Given the description of an element on the screen output the (x, y) to click on. 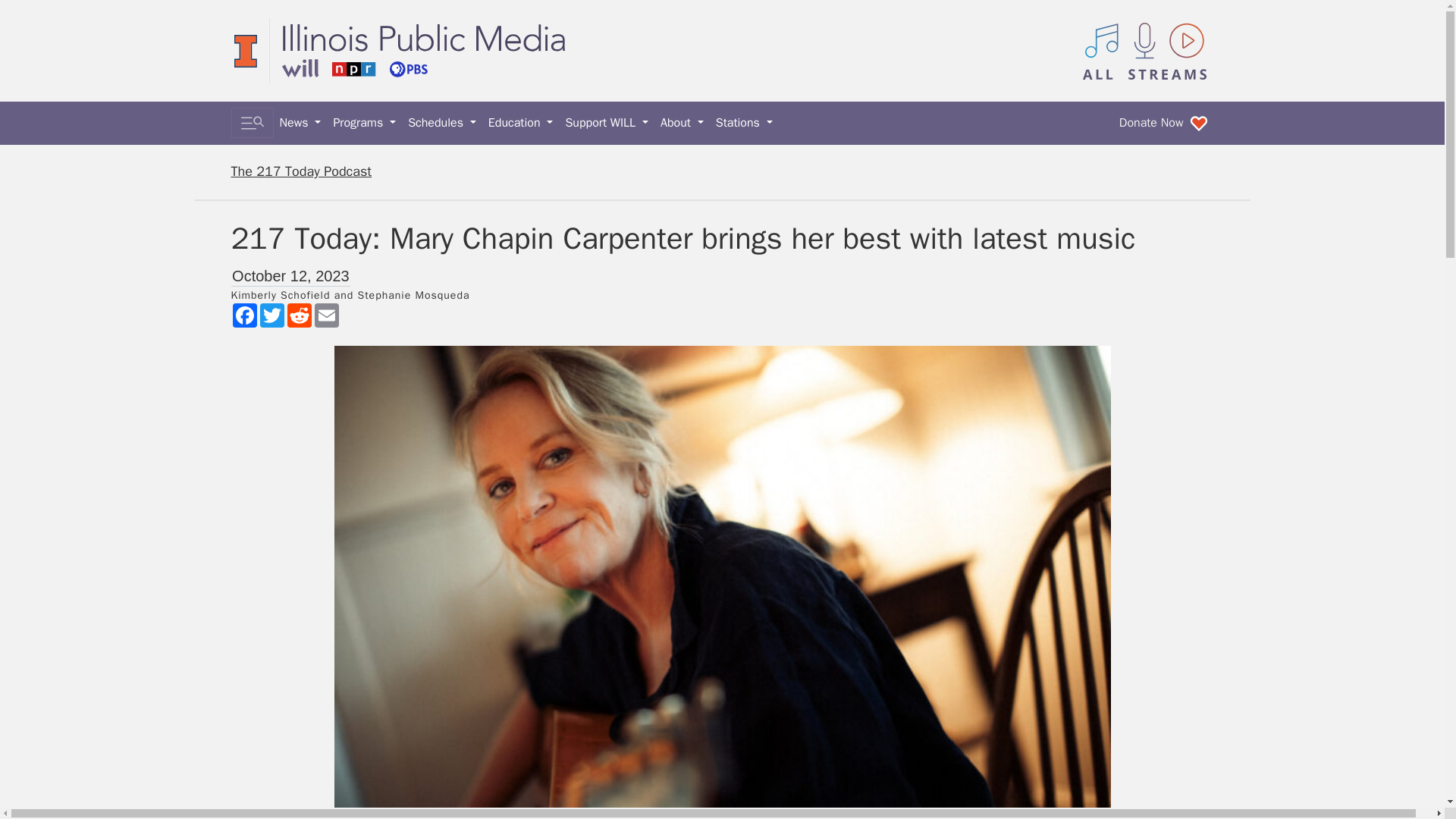
All IPM content streams (1144, 50)
Toggle search (251, 122)
Schedules (441, 122)
Programs (363, 122)
News (299, 122)
